Given the description of an element on the screen output the (x, y) to click on. 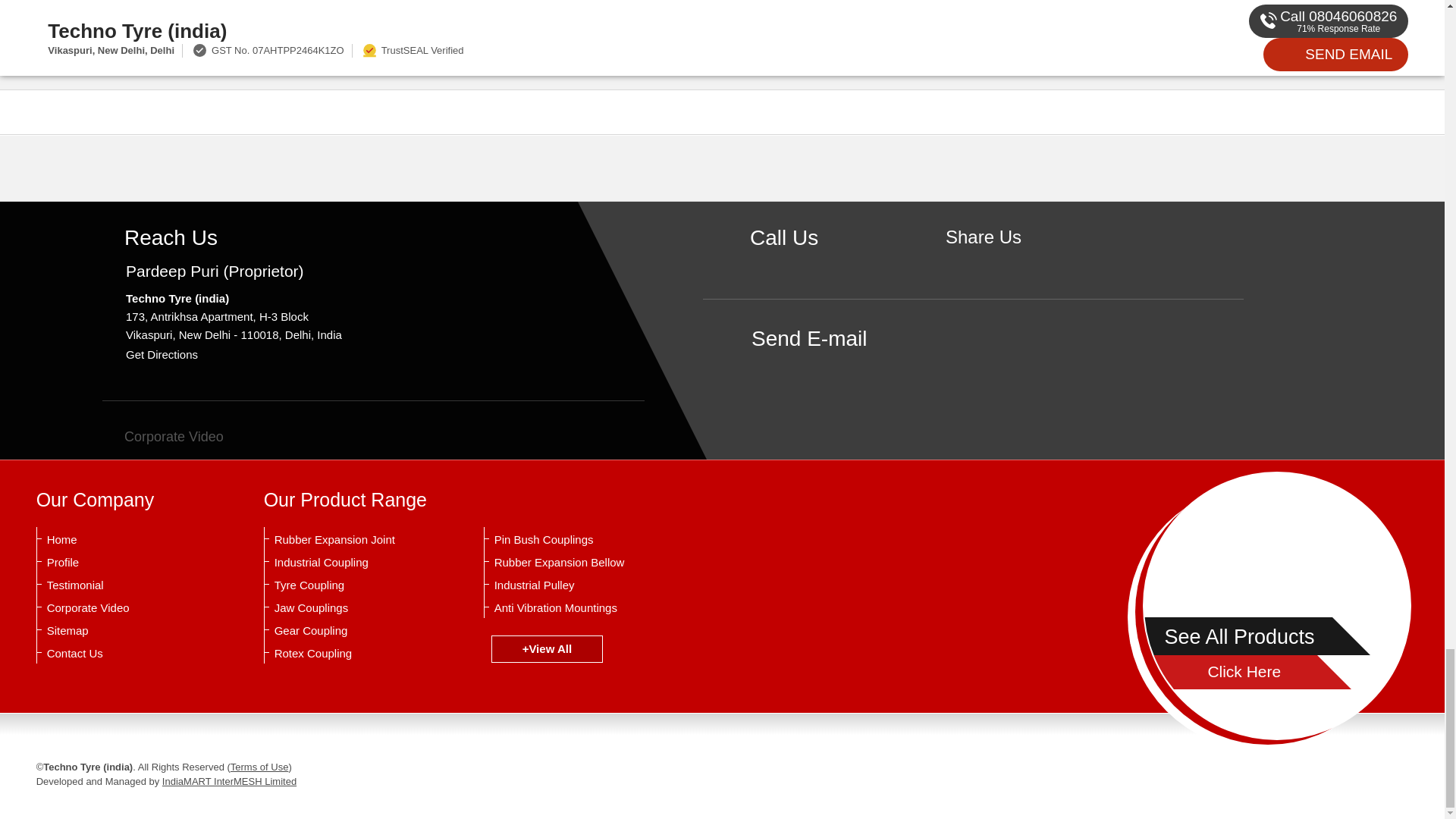
Get Directions (161, 354)
Facebook (983, 262)
Corporate Video (162, 436)
